Given the description of an element on the screen output the (x, y) to click on. 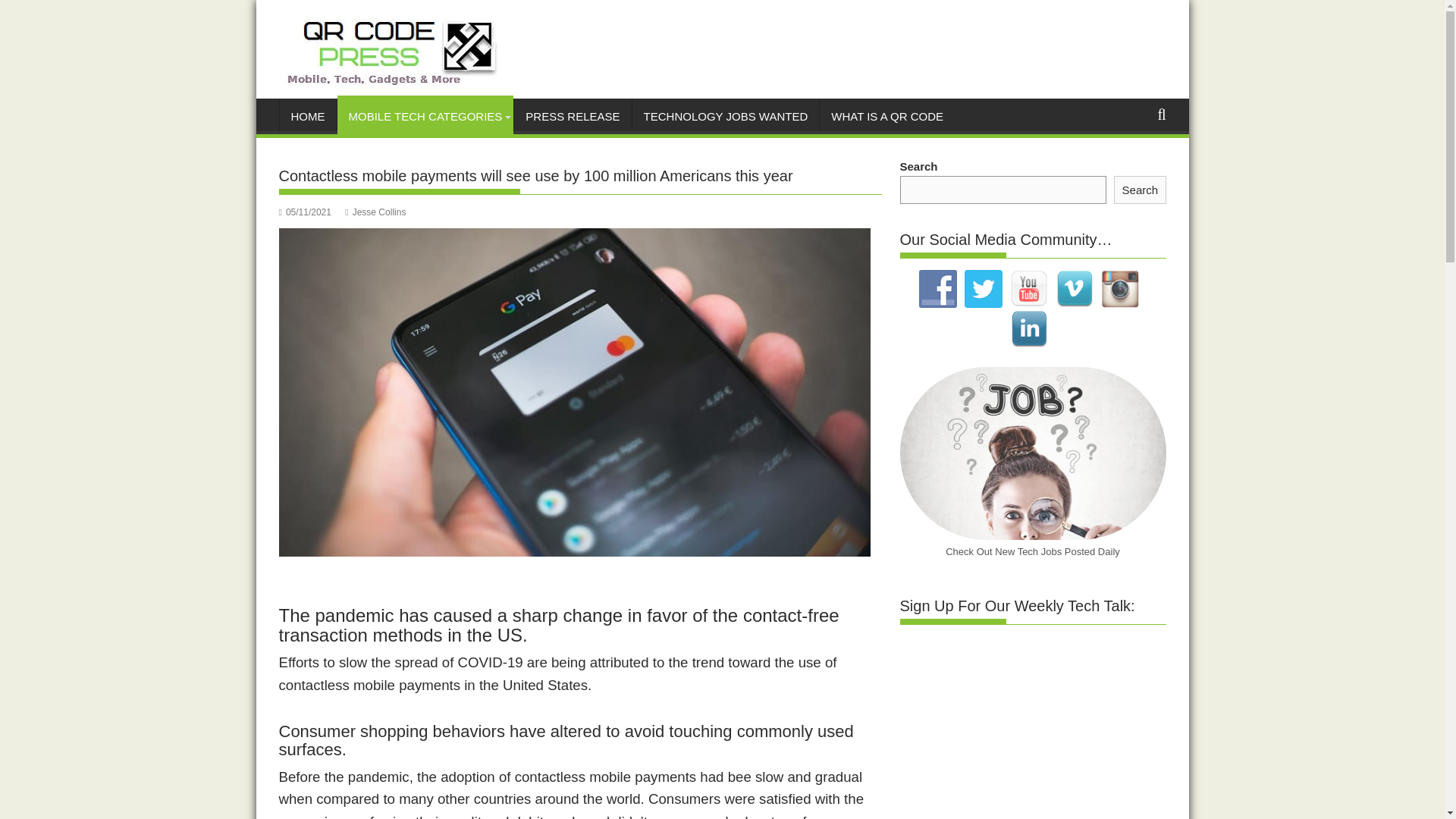
 Instagram (1119, 288)
 Facebook (937, 288)
 Vimeo (1074, 288)
HOME (307, 116)
PRESS RELEASE (571, 116)
 Twitter (983, 288)
WHAT IS A QR CODE (887, 116)
 YouTube (1029, 288)
 LinkedIn (1029, 329)
